Given the description of an element on the screen output the (x, y) to click on. 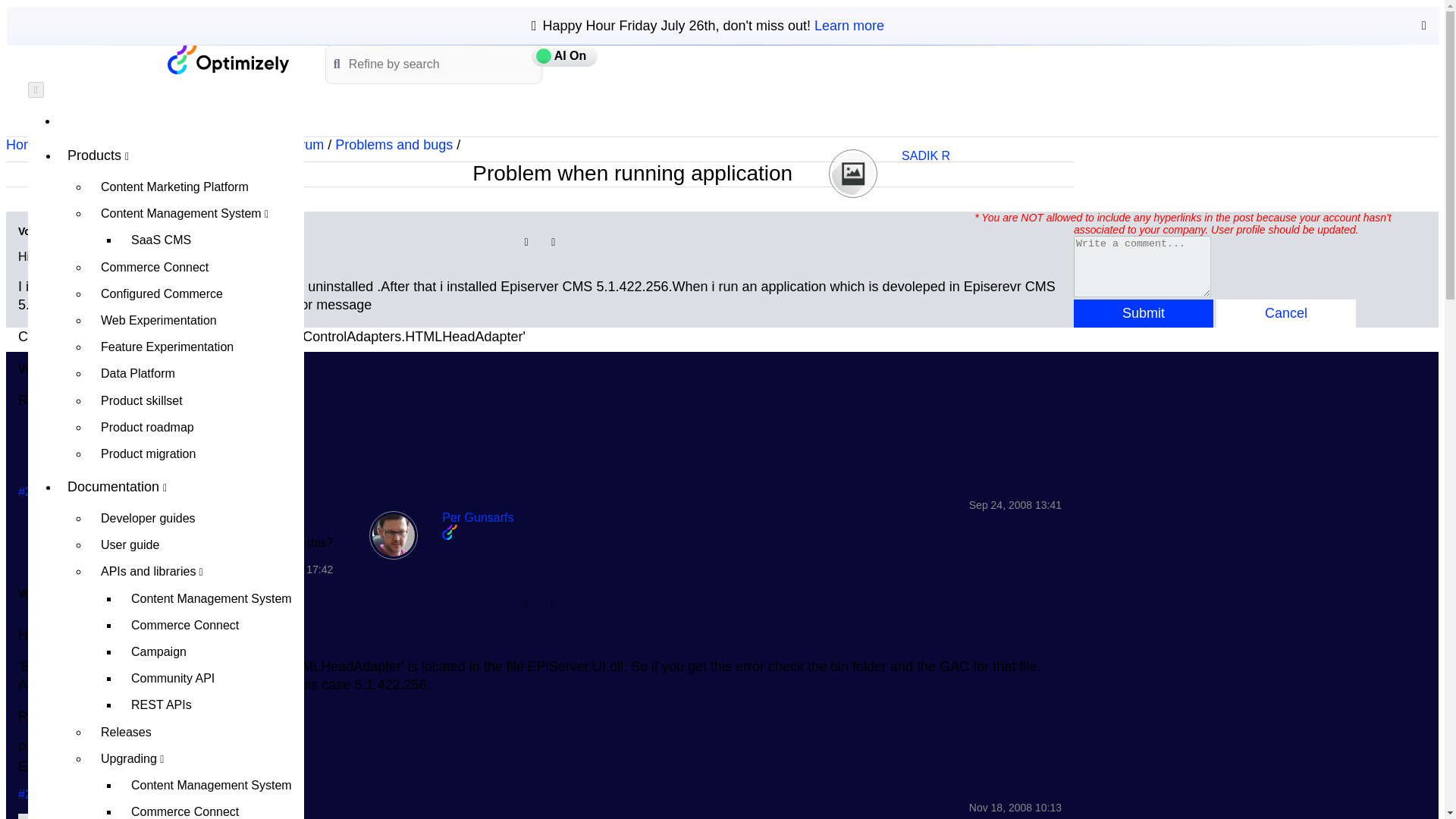
Go to John Ruddy's page (135, 517)
Product roadmap (196, 427)
SaaS CMS (211, 239)
Upgrading (196, 758)
Learn more (848, 25)
Go to SADIK R's page (925, 155)
Per Gunsarfs (393, 535)
Content Marketing Platform (196, 186)
APIs and libraries (196, 570)
Content Management System (211, 785)
Product migration (196, 453)
Content Management System (196, 212)
Feature Experimentation (196, 346)
Product skillset (196, 399)
Products (181, 155)
